Given the description of an element on the screen output the (x, y) to click on. 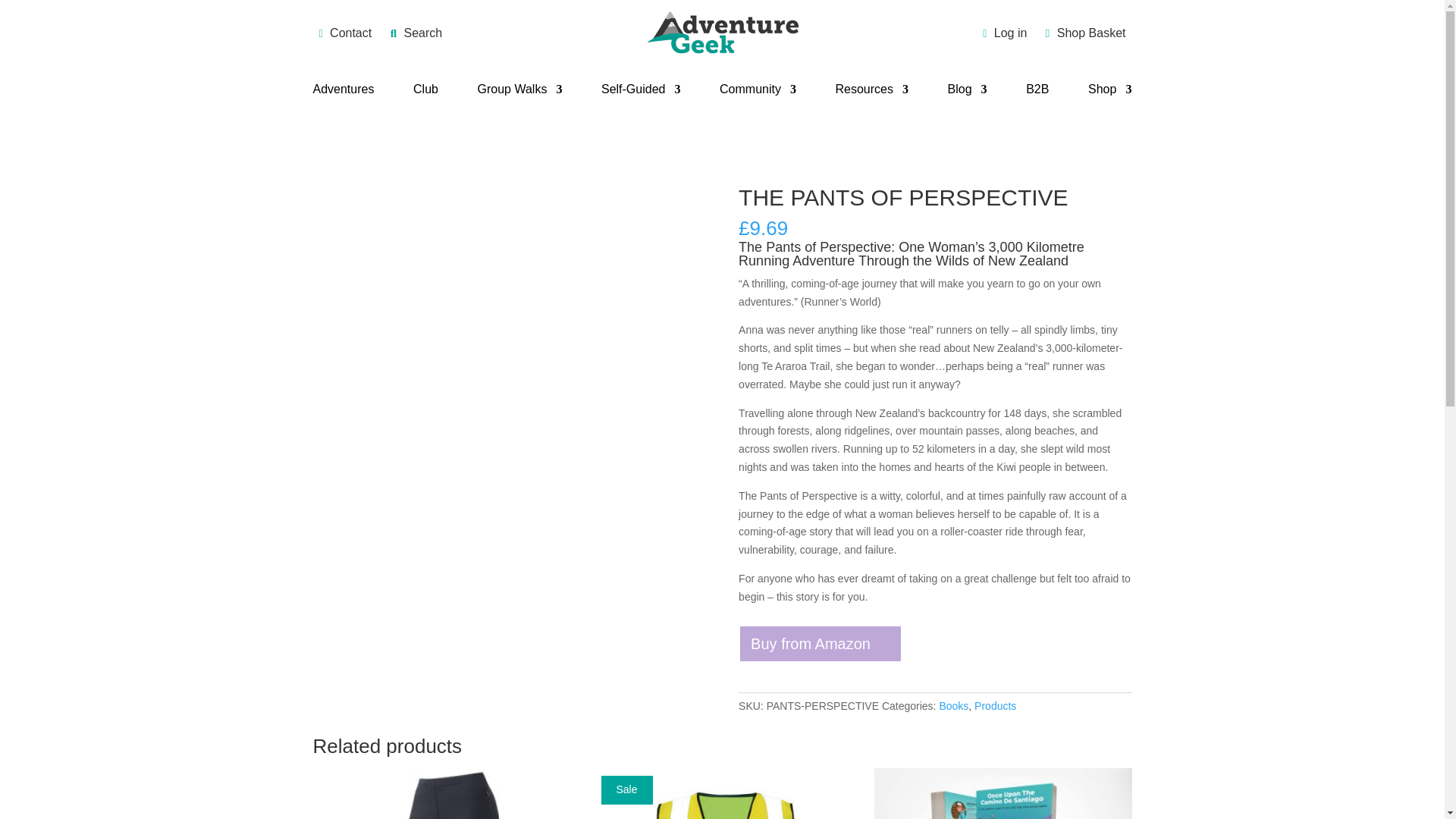
ag-logo (721, 33)
Resources (871, 92)
Community (757, 92)
Club (425, 92)
Shop Basket (1077, 32)
Adventures (343, 92)
Shop (1109, 92)
Self-Guided (641, 92)
Group Walks (519, 92)
Search (408, 32)
